Given the description of an element on the screen output the (x, y) to click on. 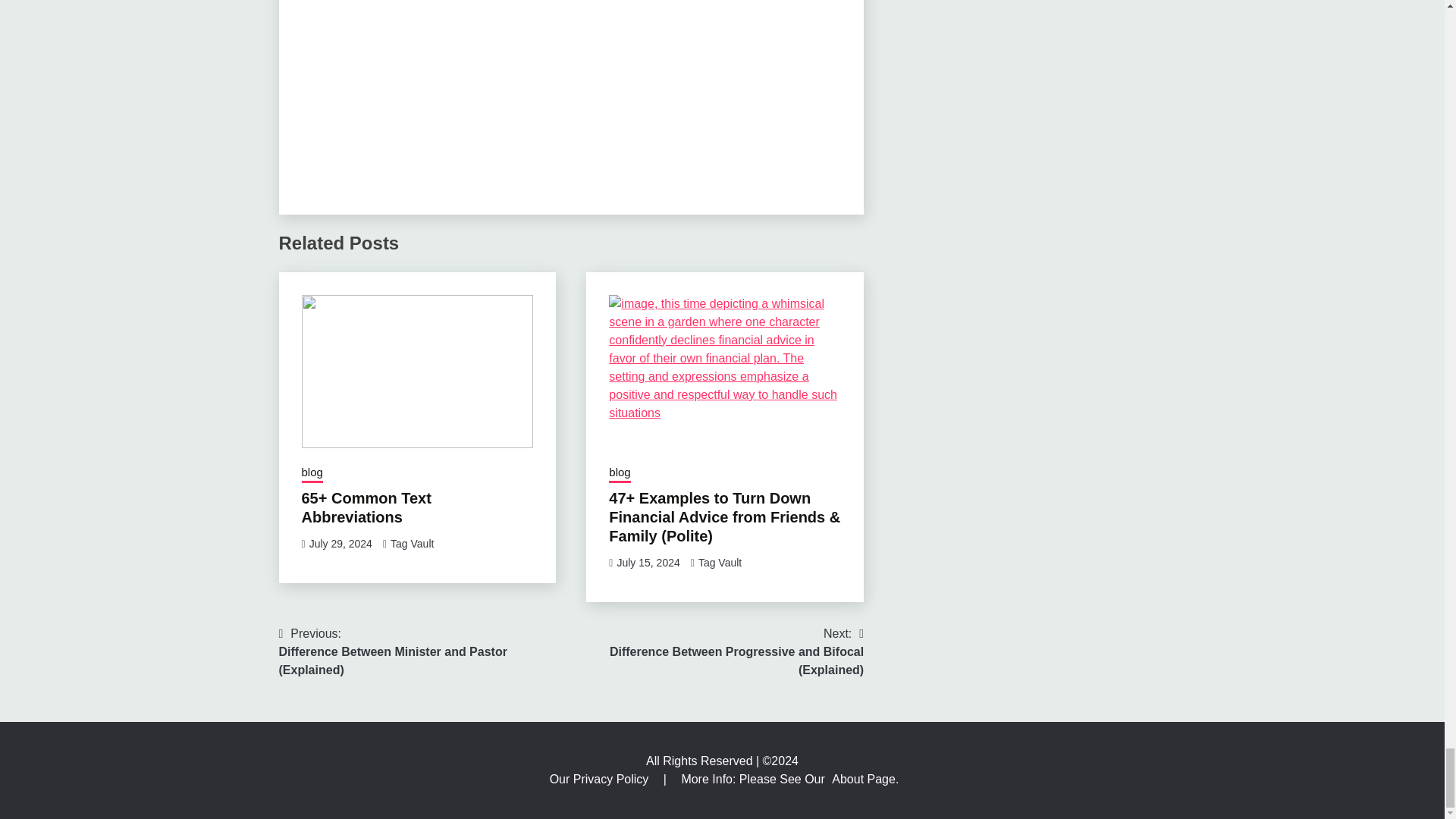
Tag Vault (411, 543)
Our Privacy Policy (601, 779)
Tag Vault (719, 562)
July 15, 2024 (647, 562)
About Page (863, 779)
blog (312, 474)
July 29, 2024 (340, 543)
blog (619, 474)
